Given the description of an element on the screen output the (x, y) to click on. 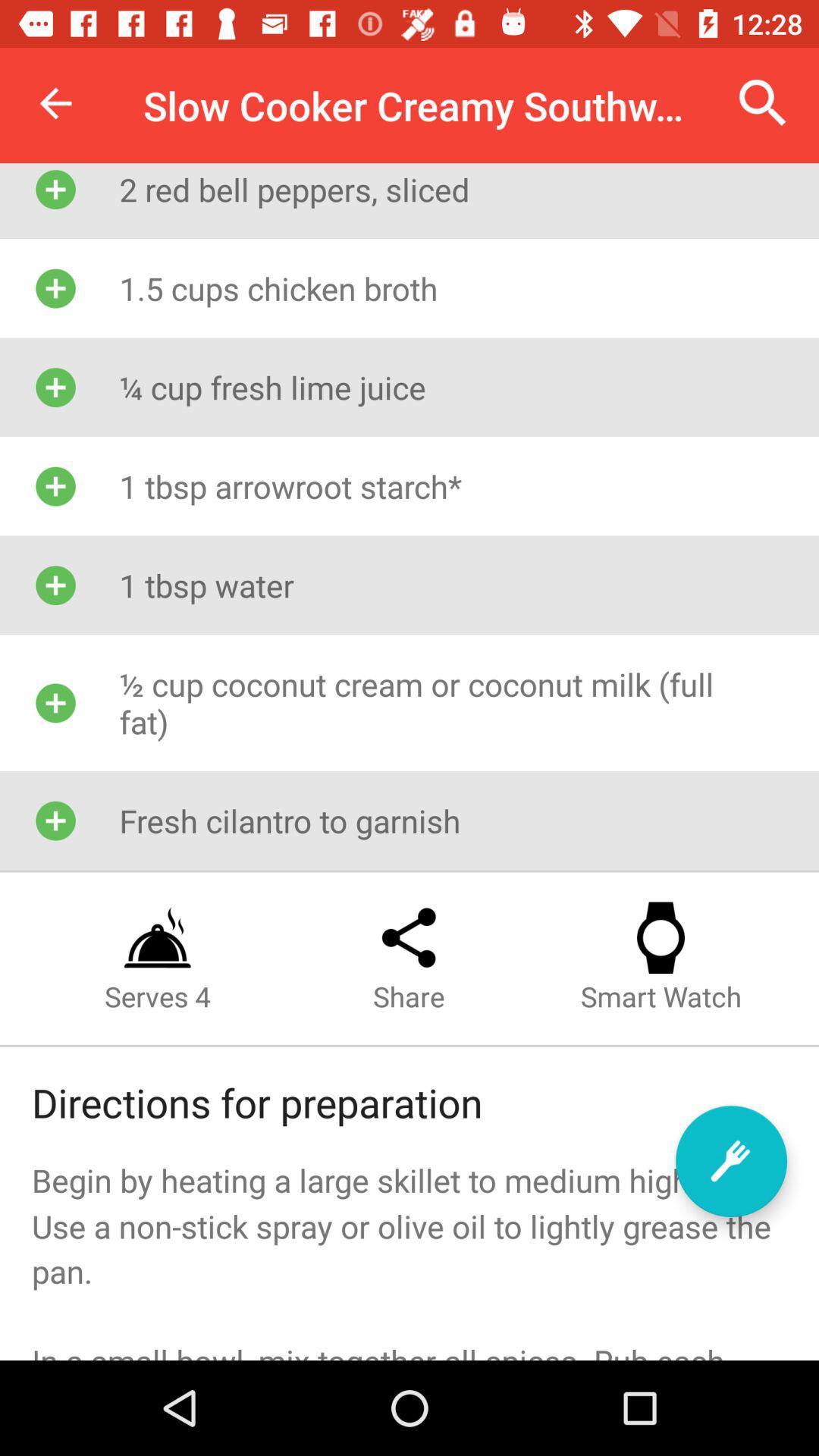
press the item at the top right corner (763, 103)
